Given the description of an element on the screen output the (x, y) to click on. 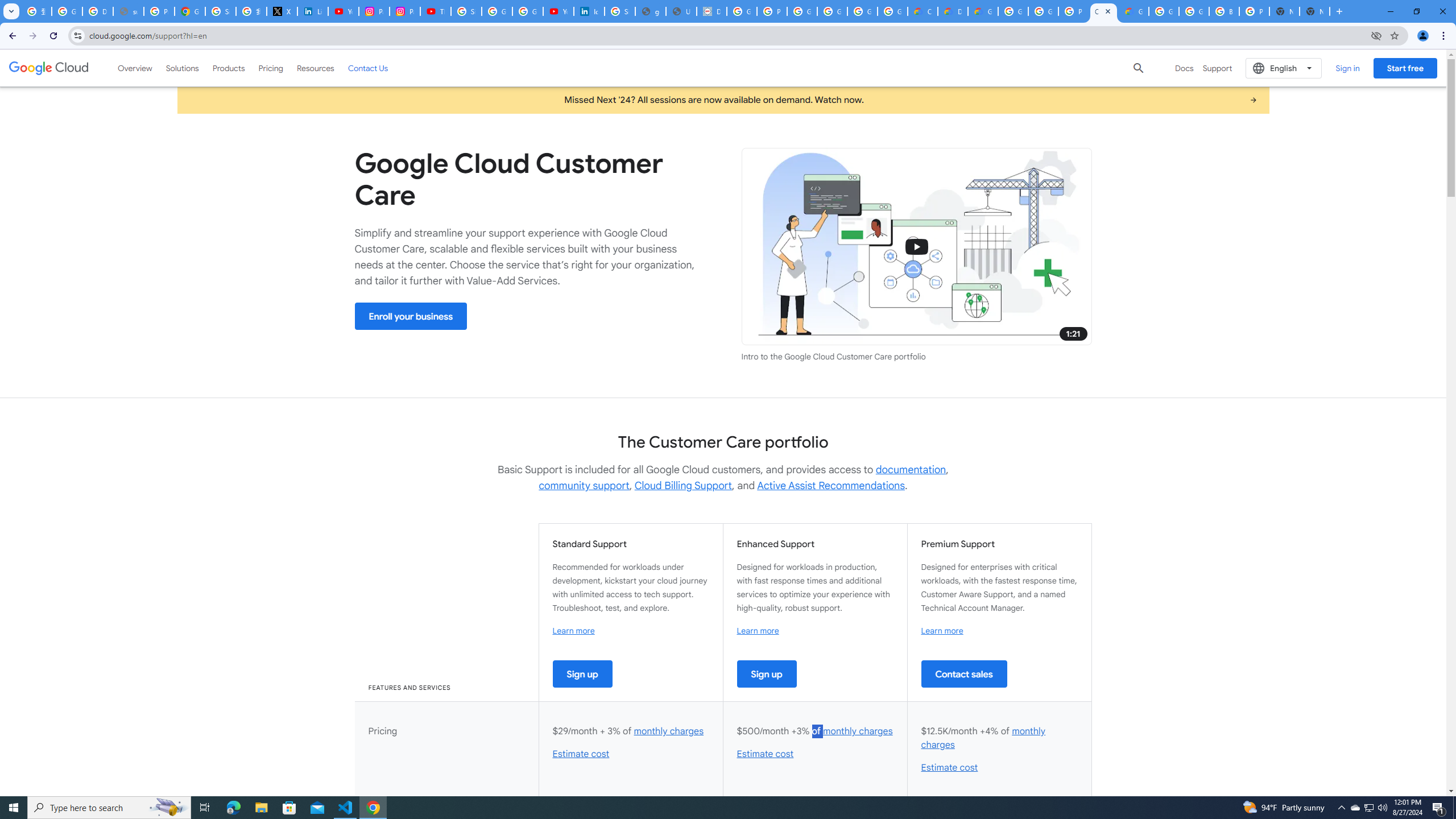
User Details (681, 11)
Google Cloud Platform (1012, 11)
YouTube Content Monetization Policies - How YouTube Works (343, 11)
Resources (314, 67)
Privacy Help Center - Policies Help (158, 11)
Docs (1183, 67)
